Given the description of an element on the screen output the (x, y) to click on. 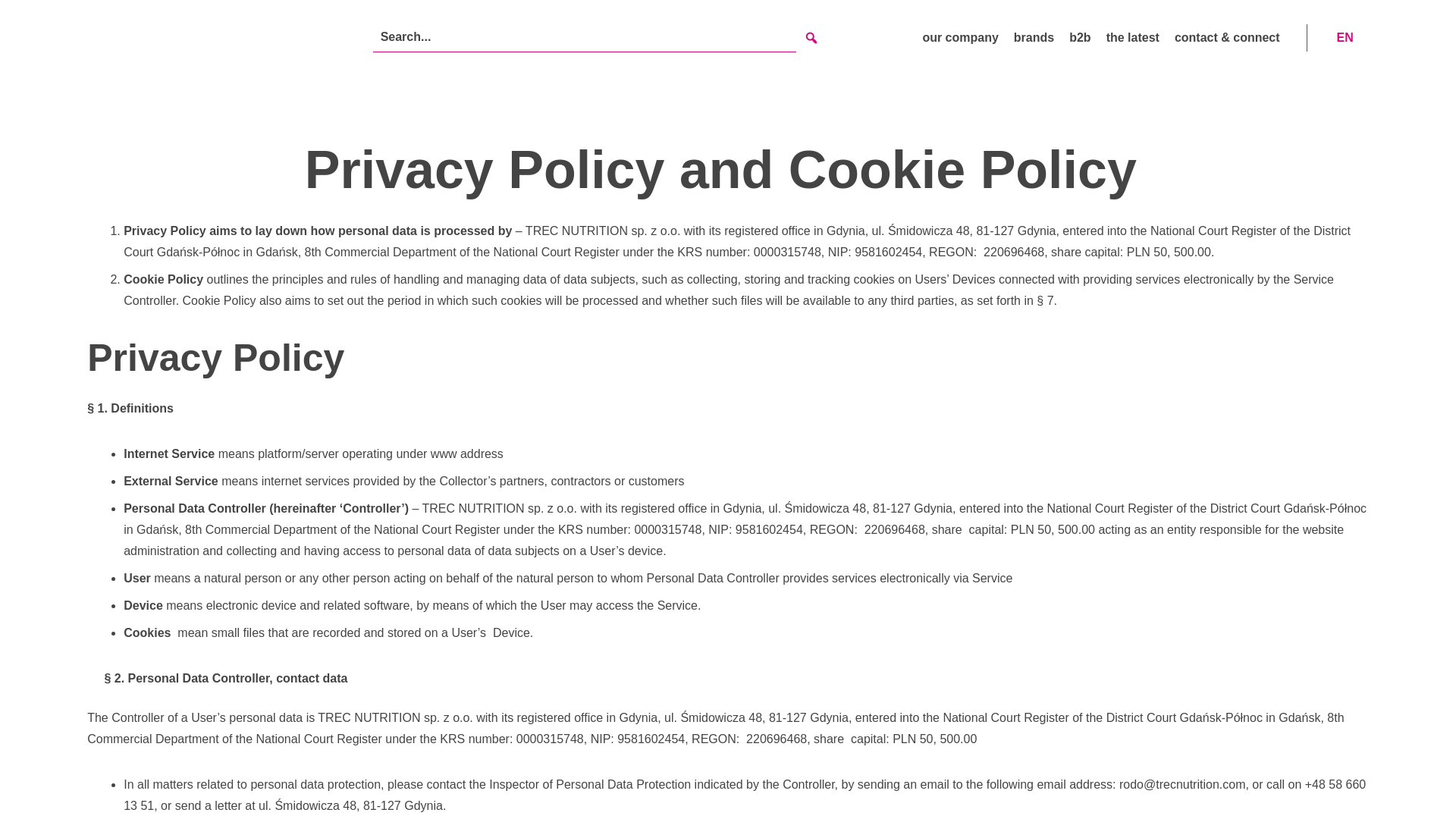
EN (1345, 36)
the latest (1132, 36)
b2b (1079, 36)
brands (1033, 36)
our company (959, 36)
